Given the description of an element on the screen output the (x, y) to click on. 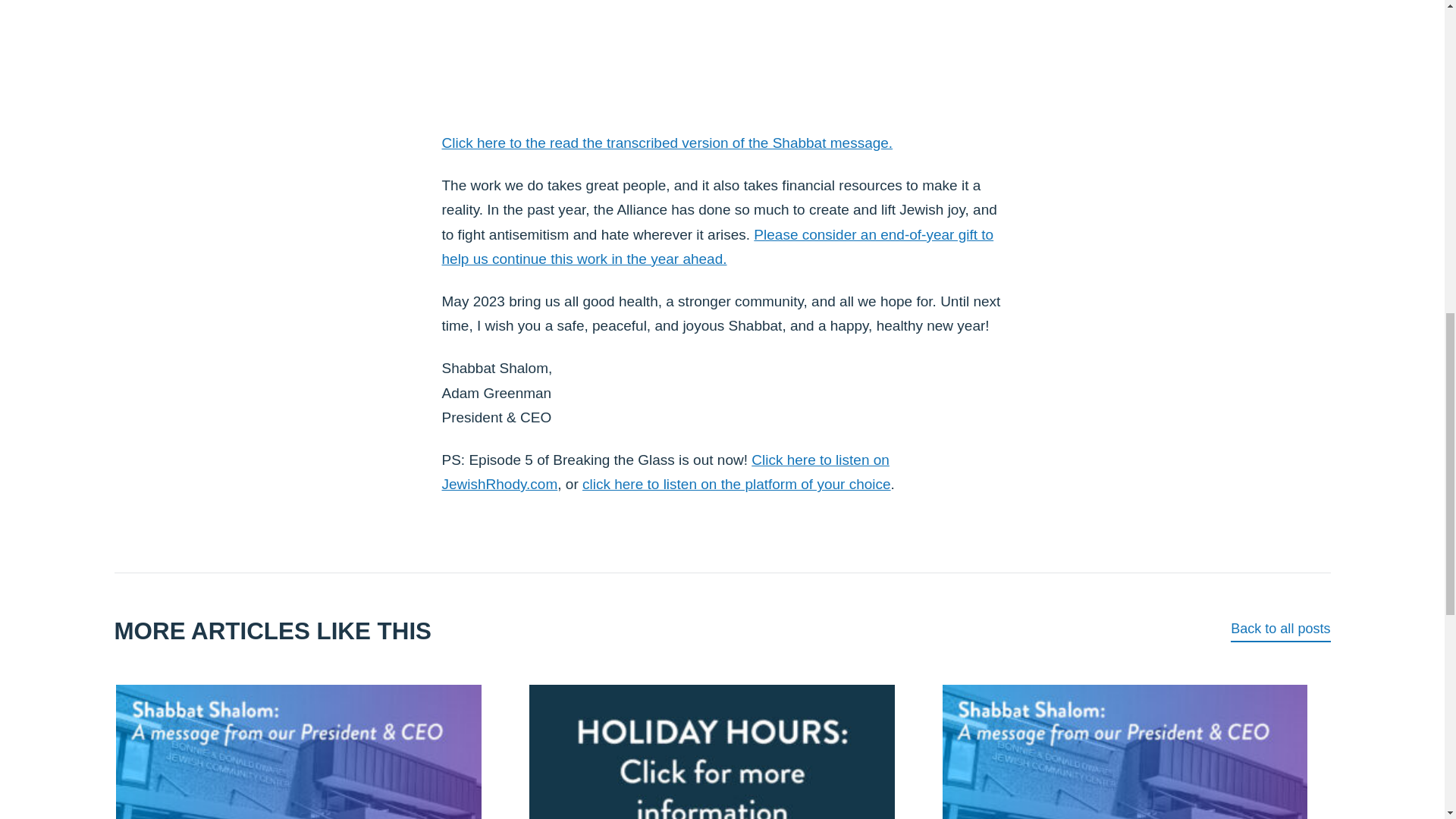
Shabbat Message Dec 30 2022 (722, 51)
